Given the description of an element on the screen output the (x, y) to click on. 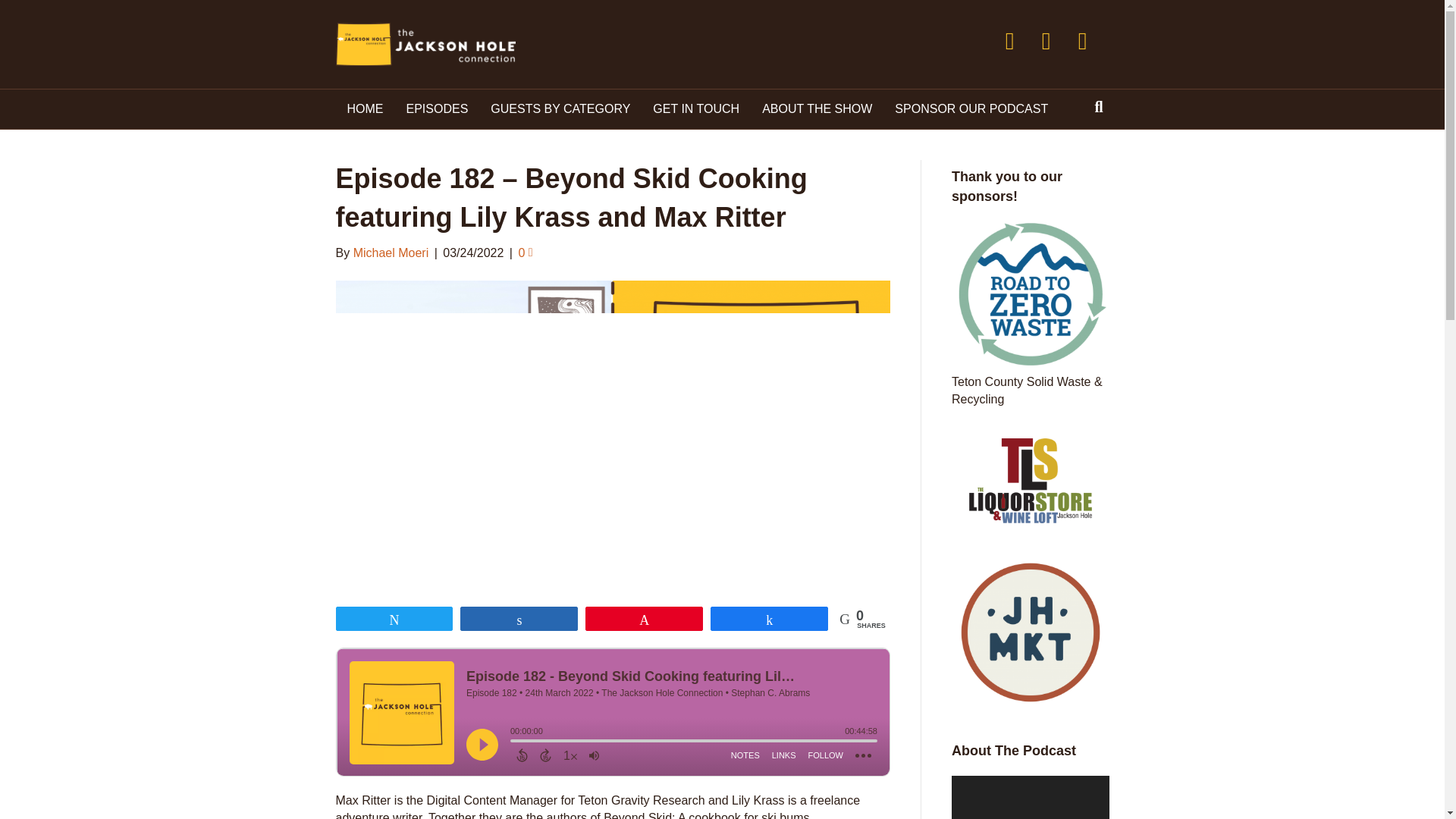
Email (1082, 40)
Michael Moeri (391, 252)
Facebook (1009, 40)
0 (525, 252)
HOME (364, 108)
SPONSOR OUR PODCAST (971, 108)
Instagram (1045, 40)
GUESTS BY CATEGORY (560, 108)
GET IN TOUCH (696, 108)
ABOUT THE SHOW (817, 108)
